Given the description of an element on the screen output the (x, y) to click on. 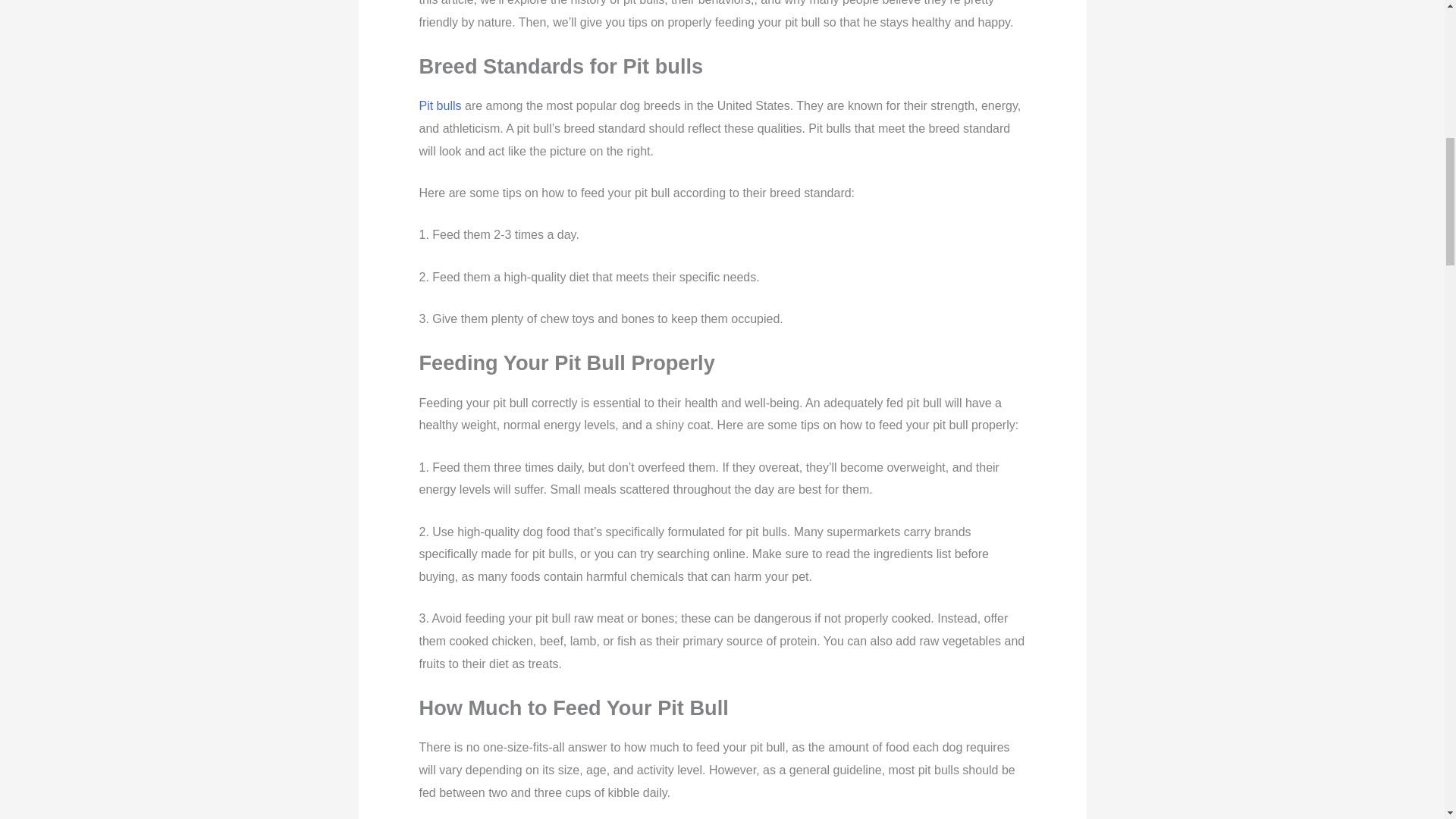
Pit bulls (440, 105)
